Given the description of an element on the screen output the (x, y) to click on. 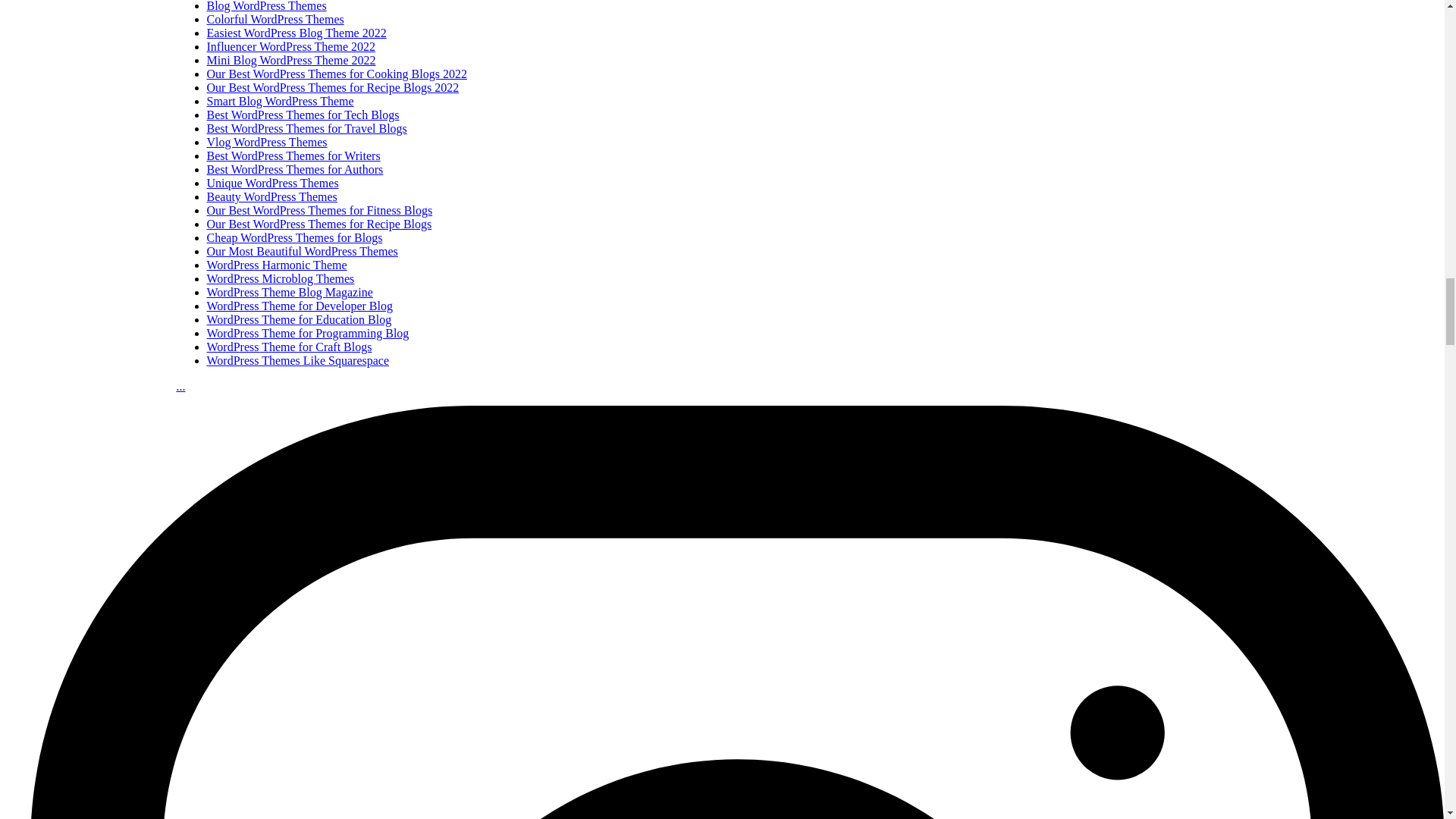
Vlog WordPress Themes (266, 141)
Smart Blog WordPress Theme (279, 101)
Best WordPress Themes for Tech Blogs (302, 114)
Colorful WordPress Themes (274, 19)
Our Best WordPress Themes for Cooking Blogs 2022 (335, 73)
Best WordPress Themes for Writers (293, 155)
Blog WordPress Themes (266, 6)
Easiest WordPress Blog Theme 2022 (295, 32)
Our Best WordPress Themes for Recipe Blogs 2022 (332, 87)
Mini Blog WordPress Theme 2022 (290, 60)
Best WordPress Themes for Travel Blogs (306, 128)
Influencer WordPress Theme 2022 (290, 46)
Best WordPress Themes for Authors (294, 169)
